Given the description of an element on the screen output the (x, y) to click on. 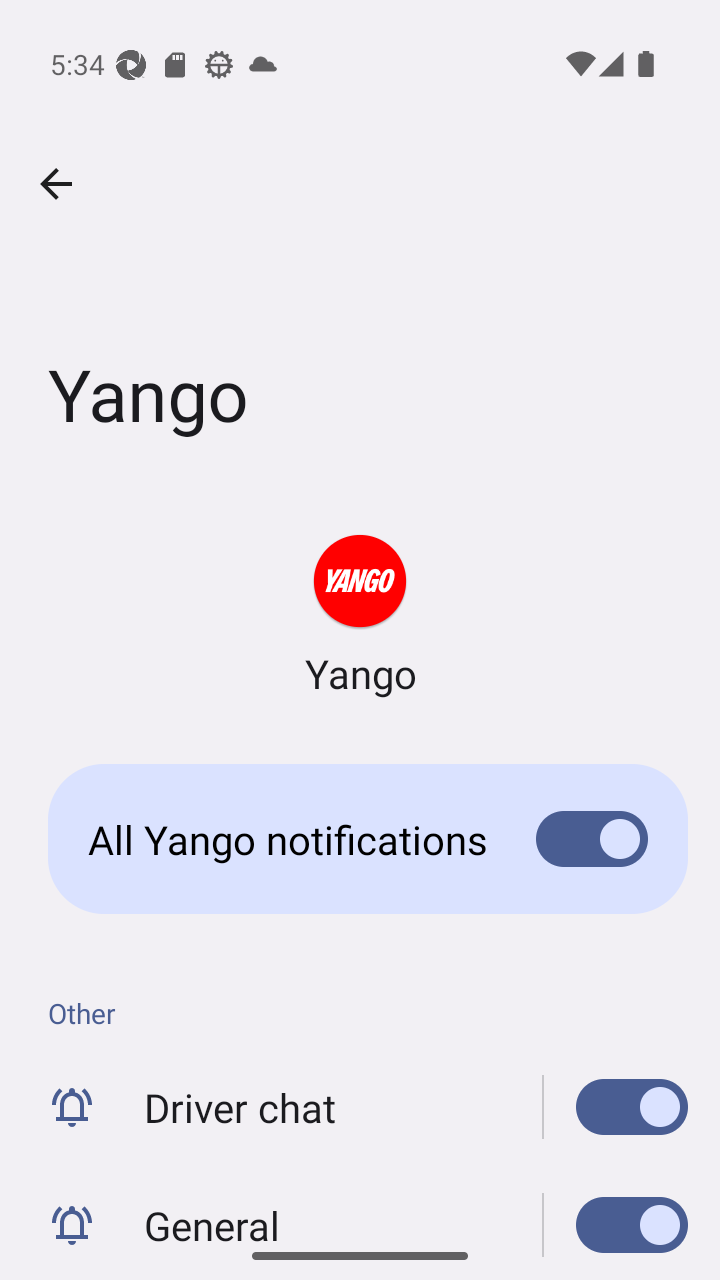
Navigate up (56, 184)
Yango (359, 616)
All Yango notifications (360, 838)
Driver chat (360, 1107)
Driver chat (616, 1107)
